Given the description of an element on the screen output the (x, y) to click on. 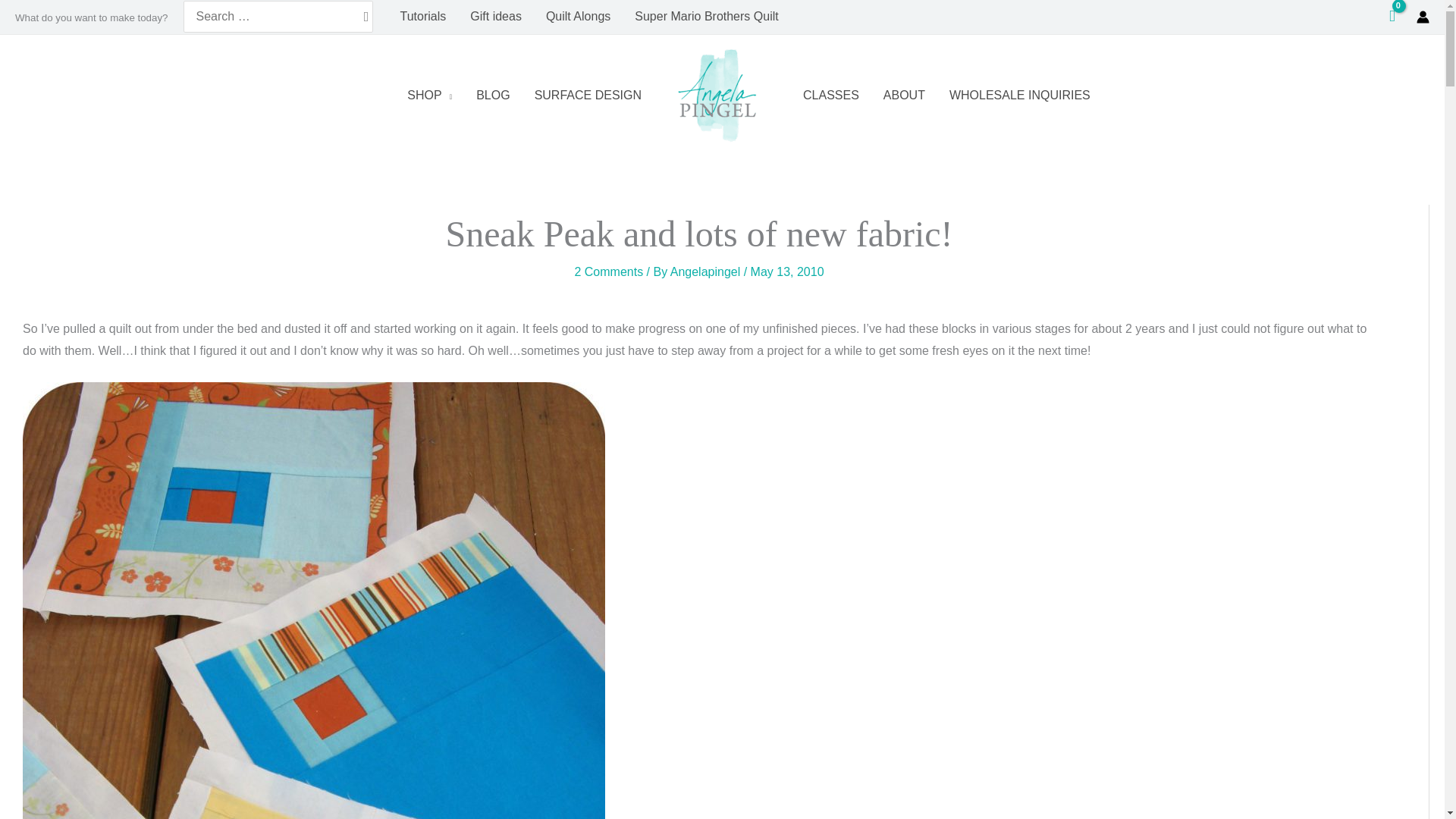
Quilt Alongs (578, 15)
Super Mario Brothers Quilt (706, 15)
WHOLESALE INQUIRIES (1019, 95)
View all posts by Angelapingel (706, 271)
Tutorials (423, 15)
SURFACE DESIGN (587, 95)
Gift ideas (496, 15)
